Given the description of an element on the screen output the (x, y) to click on. 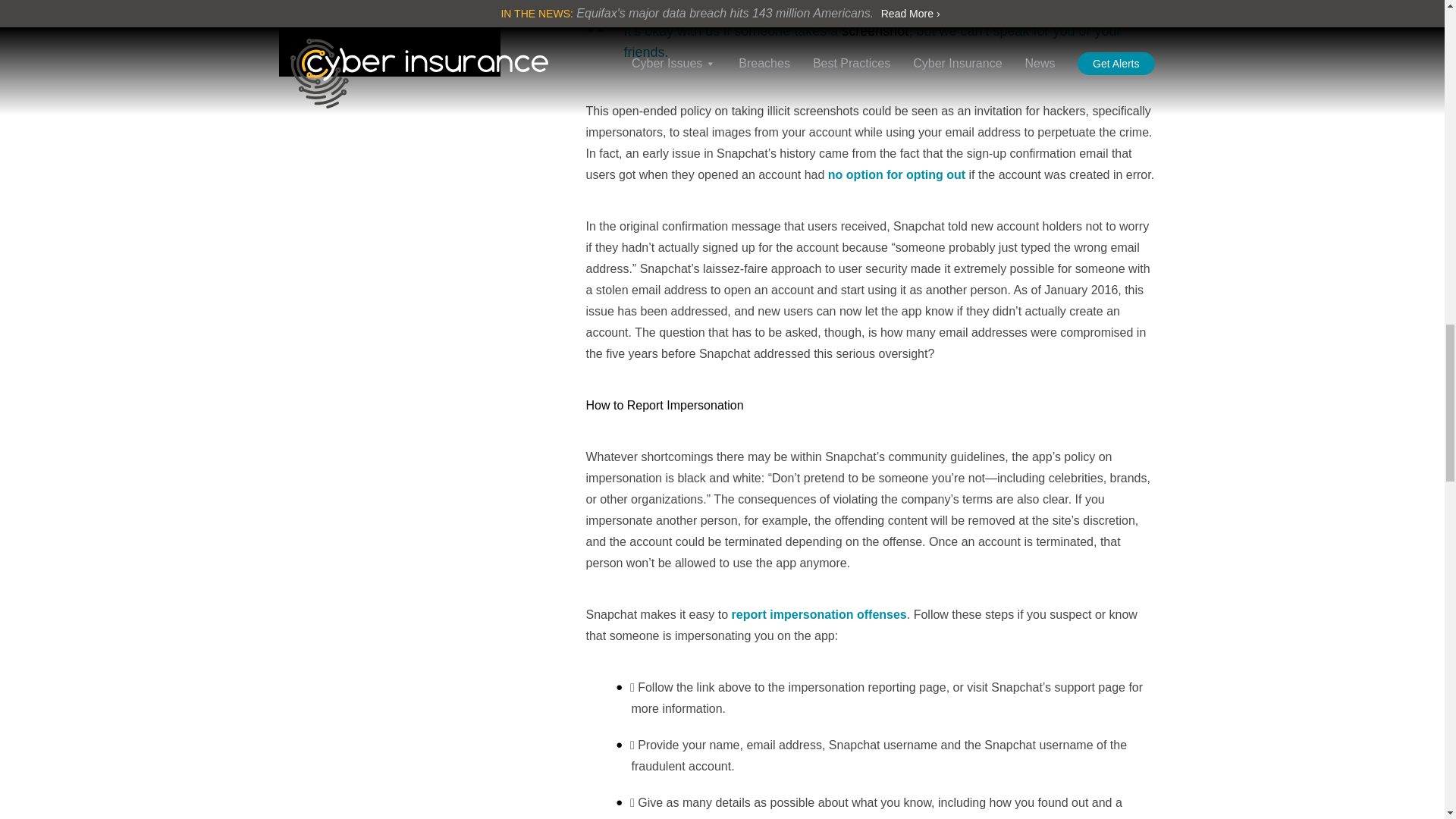
Facebook Hacking (390, 7)
